Given the description of an element on the screen output the (x, y) to click on. 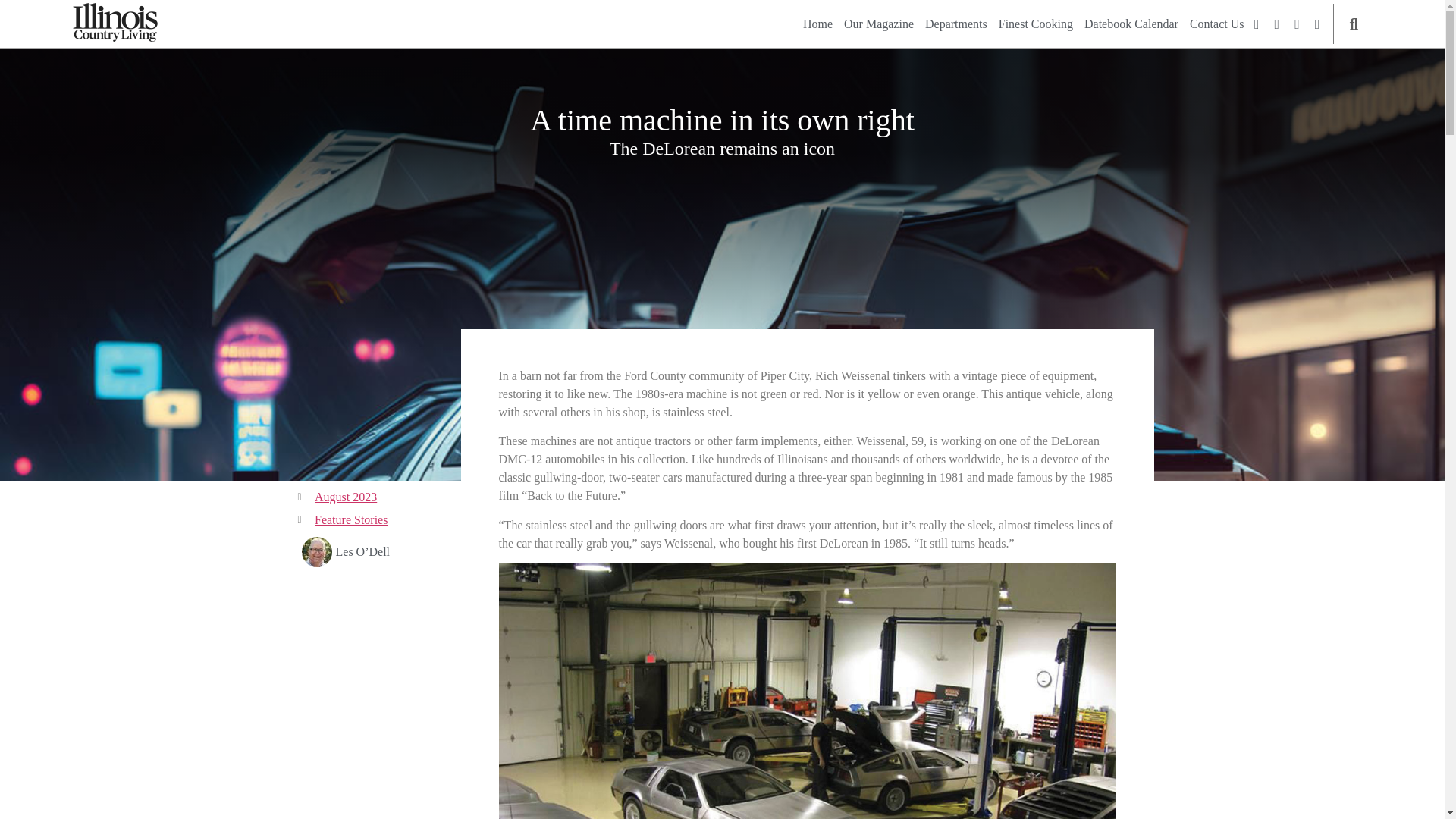
Home (817, 24)
Our Magazine (879, 24)
Departments (955, 24)
Contact Us (1217, 24)
Finest Cooking (1035, 24)
ICL-logo-blk (114, 22)
Datebook Calendar (1131, 24)
